Given the description of an element on the screen output the (x, y) to click on. 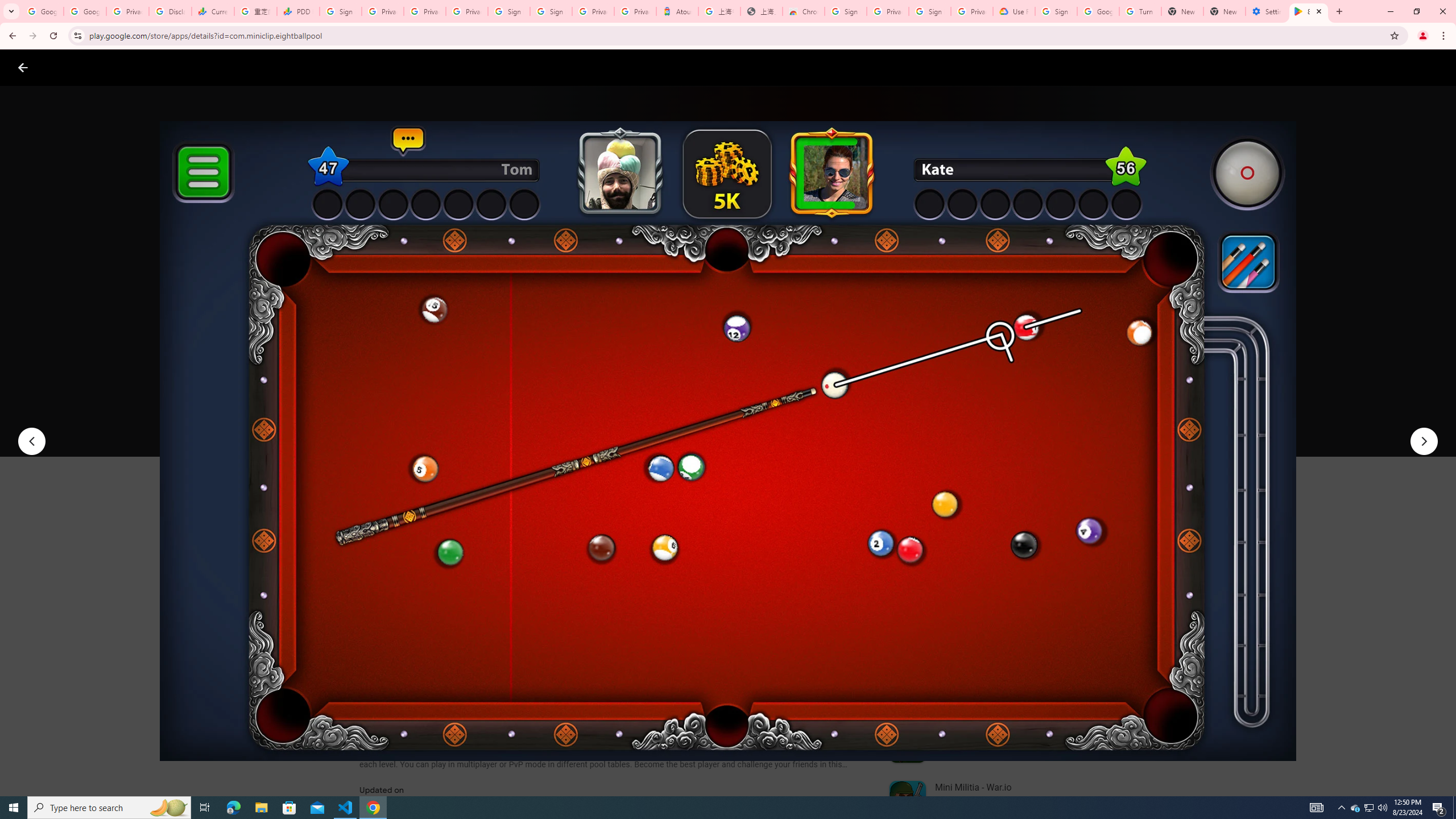
Sign in - Google Accounts (550, 11)
Currencies - Google Finance (212, 11)
New Tab (1224, 11)
Screenshot image (817, 563)
Atour Hotel - Google hotels (676, 11)
